Given the description of an element on the screen output the (x, y) to click on. 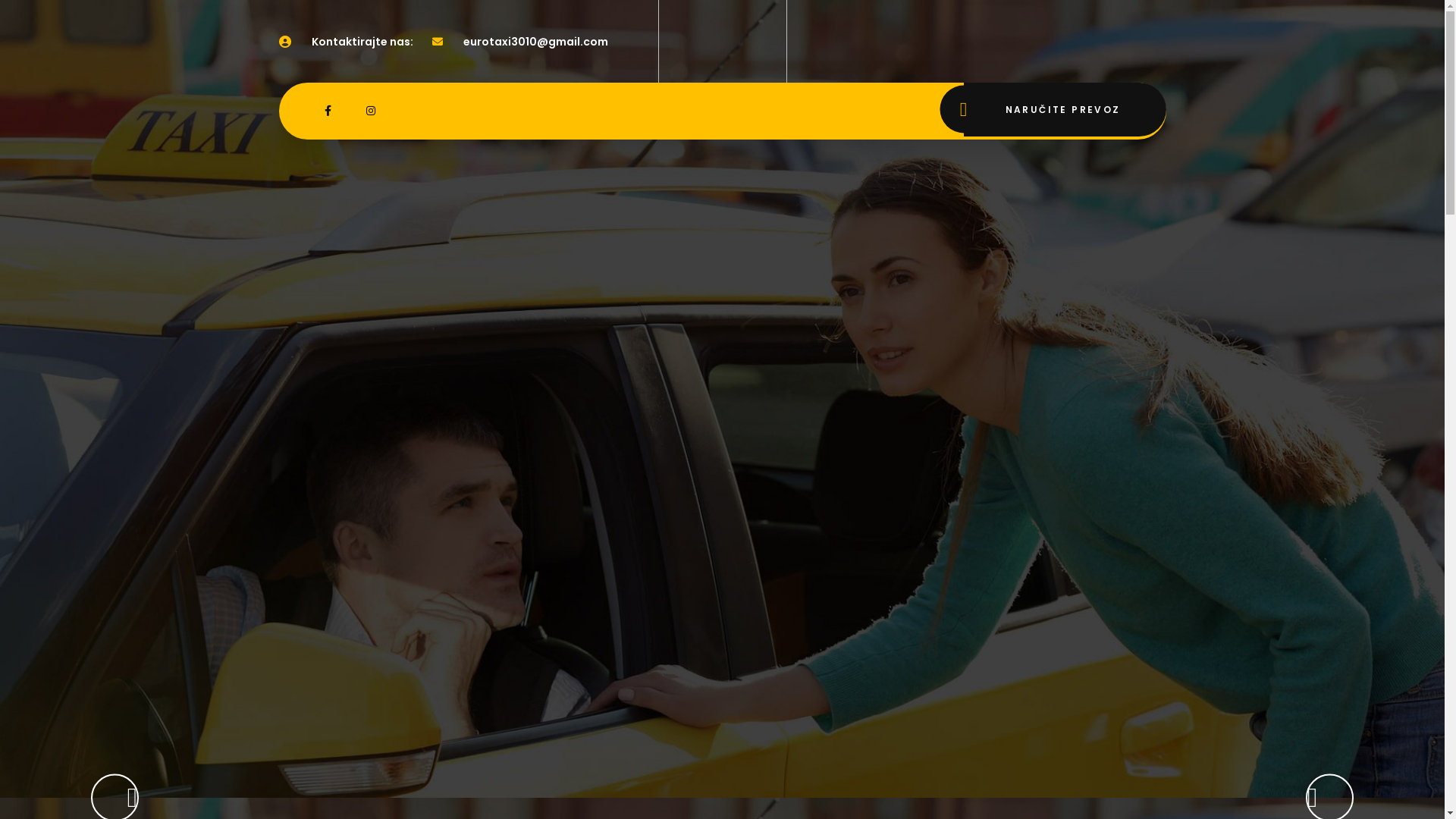
Euro Taxi Element type: hover (722, 40)
eurotaxi3010@gmail.com Element type: text (534, 41)
<i class="fa fa-facebook" aria-hidden="true"></i> Element type: hover (328, 110)
<i class="fa fa-instagram" aria-hidden="true"></i> Element type: hover (371, 110)
Kontaktirajte nas: Element type: text (361, 41)
